Given the description of an element on the screen output the (x, y) to click on. 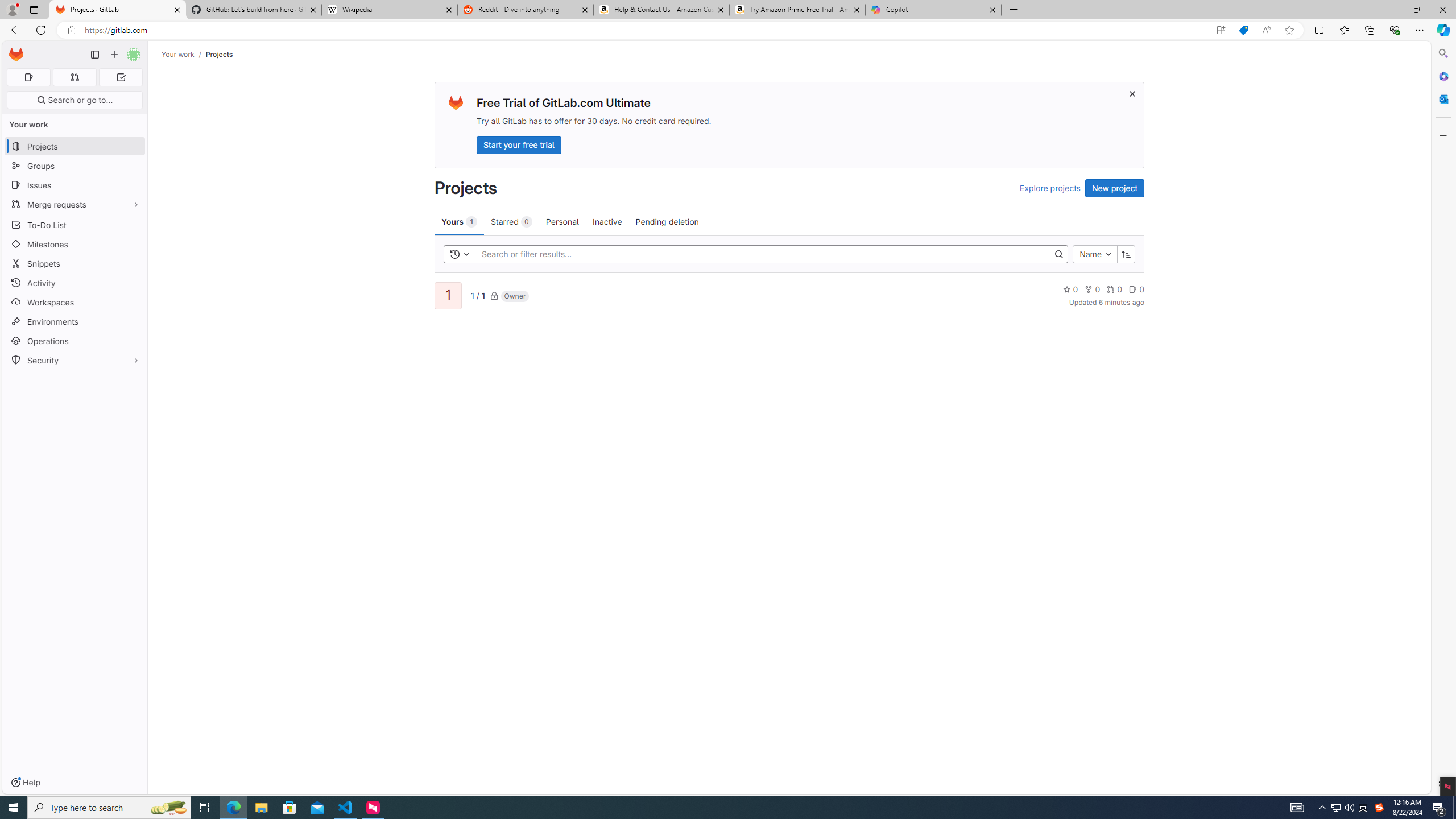
Copilot (933, 9)
Activity (74, 282)
Create new... (113, 54)
Assigned issues 0 (28, 76)
Class: s16 (494, 295)
Activity (74, 282)
Pending deletion (667, 221)
Environments (74, 321)
